Given the description of an element on the screen output the (x, y) to click on. 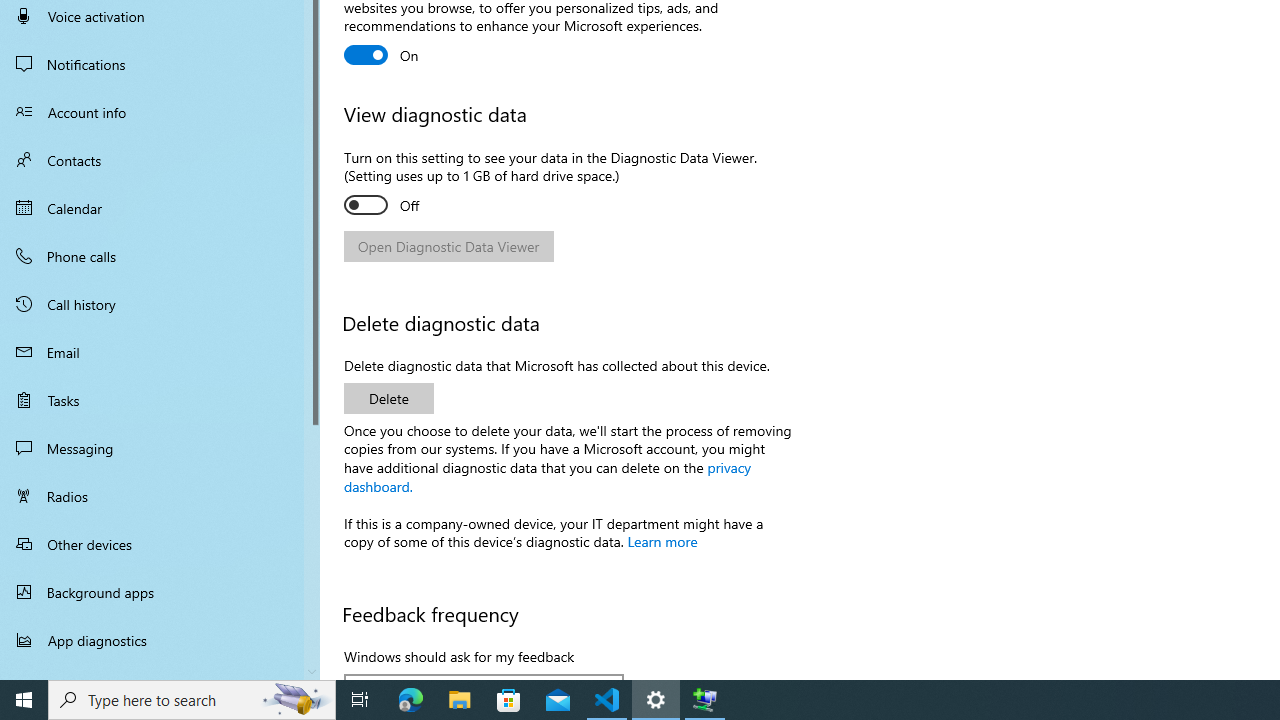
Extensible Wizards Host Process - 1 running window (704, 699)
Other devices (160, 543)
Automatic file downloads (160, 671)
Radios (160, 495)
Type here to search (191, 699)
File Explorer (460, 699)
Learn more (662, 541)
Phone calls (160, 255)
App diagnostics (160, 639)
Account info (160, 111)
privacy dashboard. (548, 475)
Microsoft Edge (411, 699)
